Given the description of an element on the screen output the (x, y) to click on. 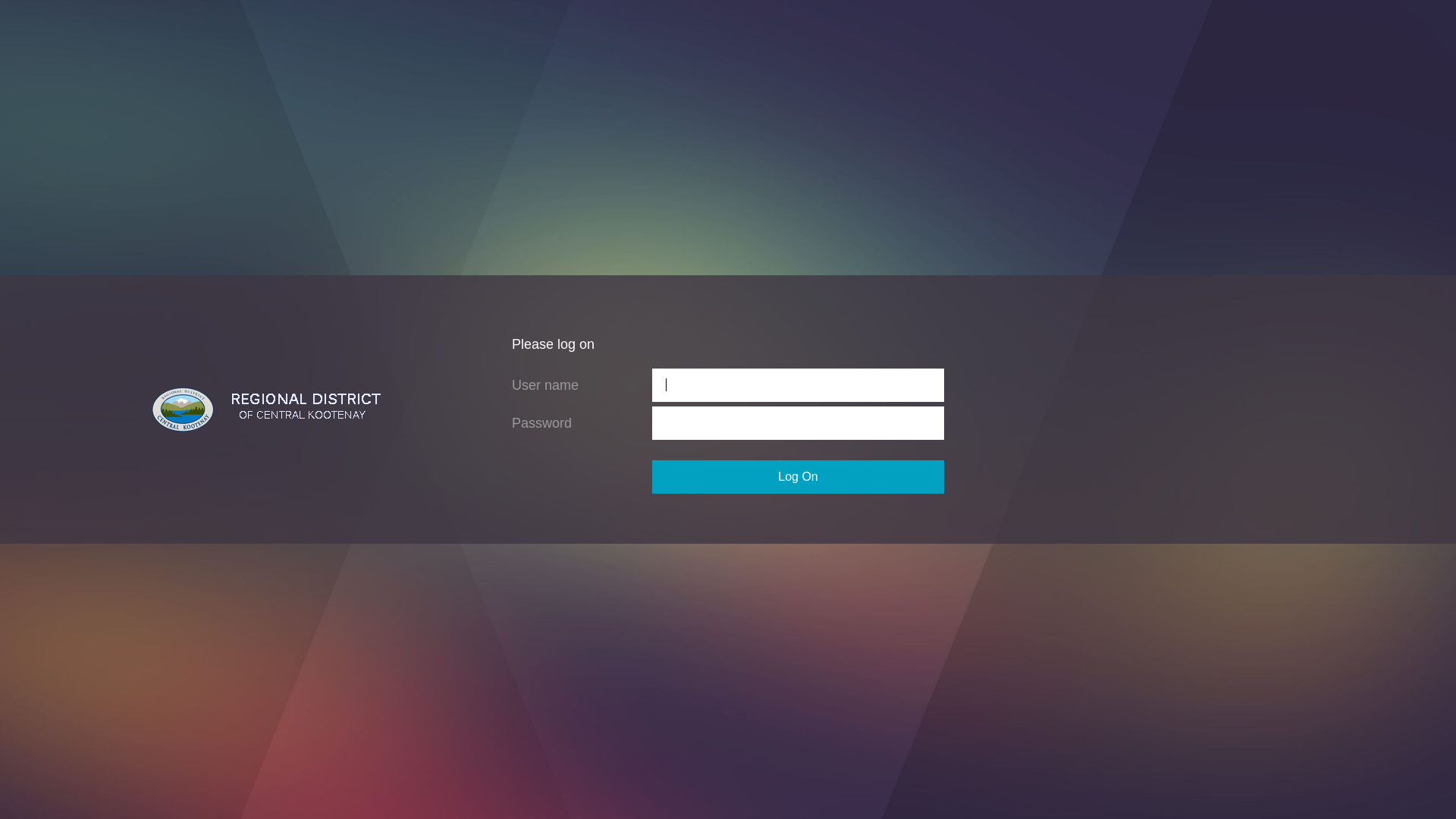
Log On Element type: text (798, 476)
